Given the description of an element on the screen output the (x, y) to click on. 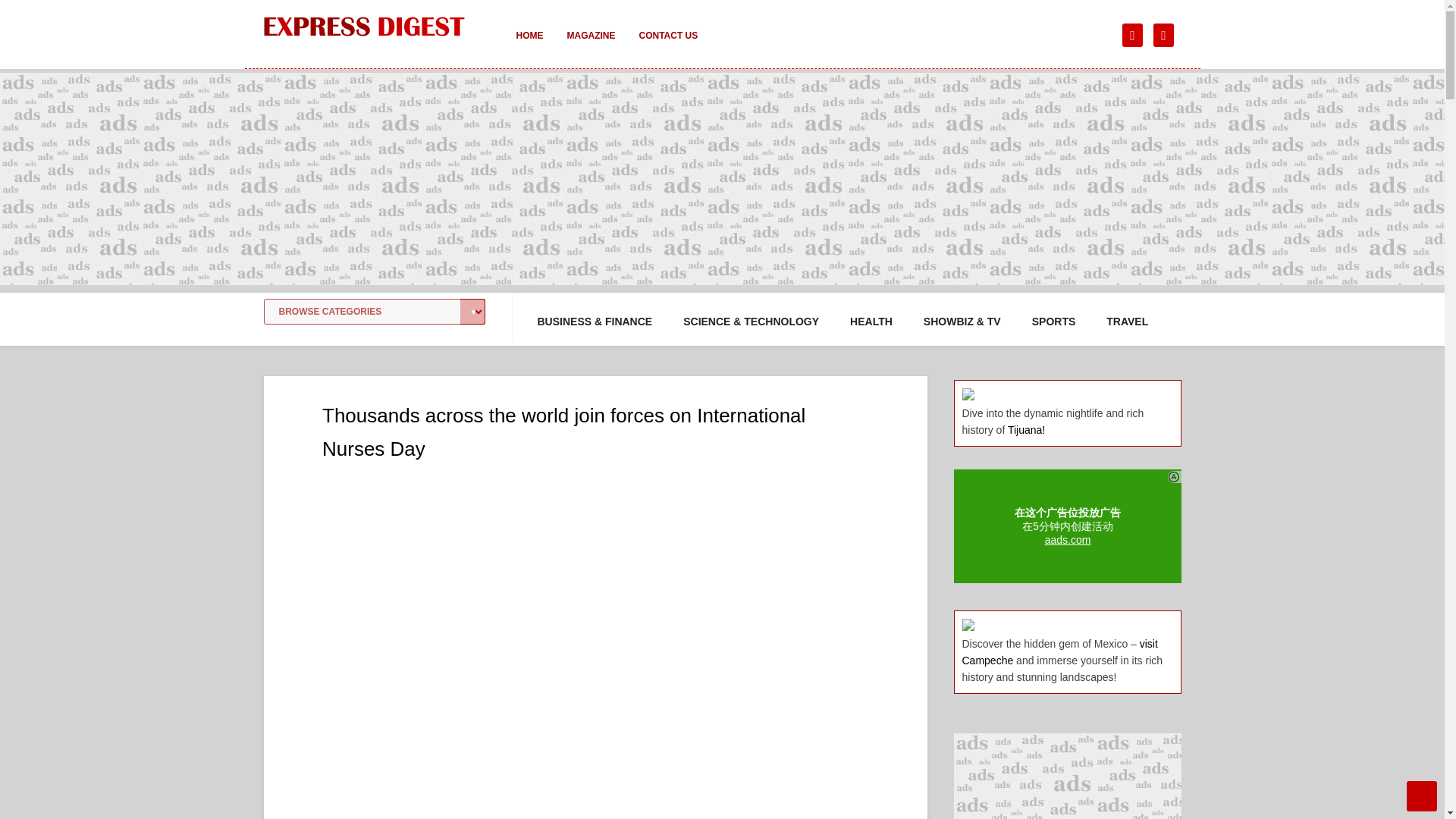
Tijuana! (1026, 429)
SPORTS (1053, 321)
CONTACT US (667, 45)
HEALTH (871, 321)
TRAVEL (1127, 321)
MAGAZINE (590, 45)
visit Campeche (1058, 652)
